Given the description of an element on the screen output the (x, y) to click on. 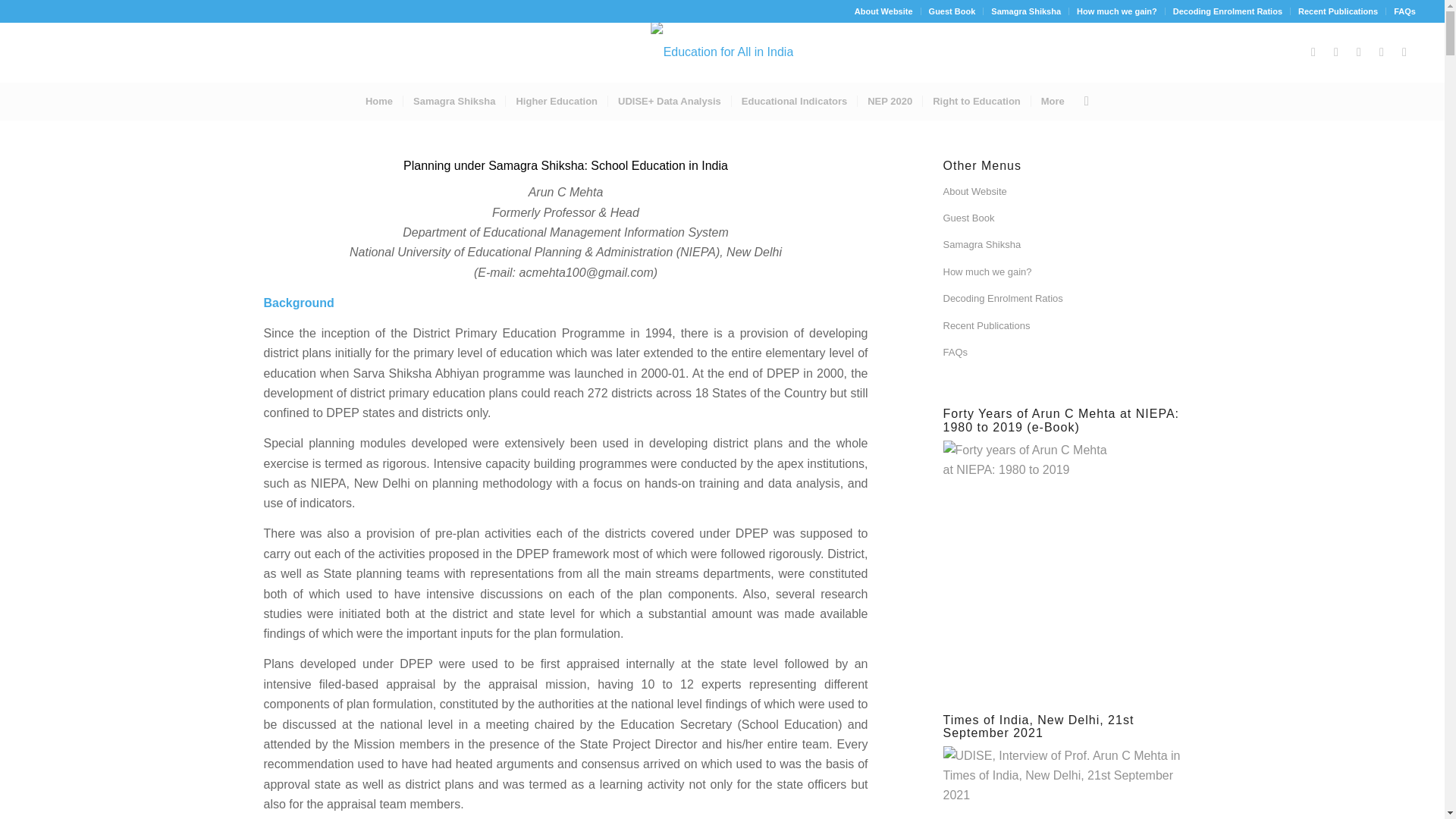
How much we gain? (1117, 11)
FAQs (1404, 11)
Youtube (1381, 51)
Recent Publications (1337, 11)
Educational Indicators (793, 101)
Higher Education (556, 101)
About Website (883, 11)
Facebook (1336, 51)
Decoding Enrolment Ratios (1227, 11)
Samagra Shiksha (1026, 11)
Samagra Shiksha (454, 101)
LinkedIn (1359, 51)
NEP 2020 (889, 101)
Twitter (1312, 51)
